Given the description of an element on the screen output the (x, y) to click on. 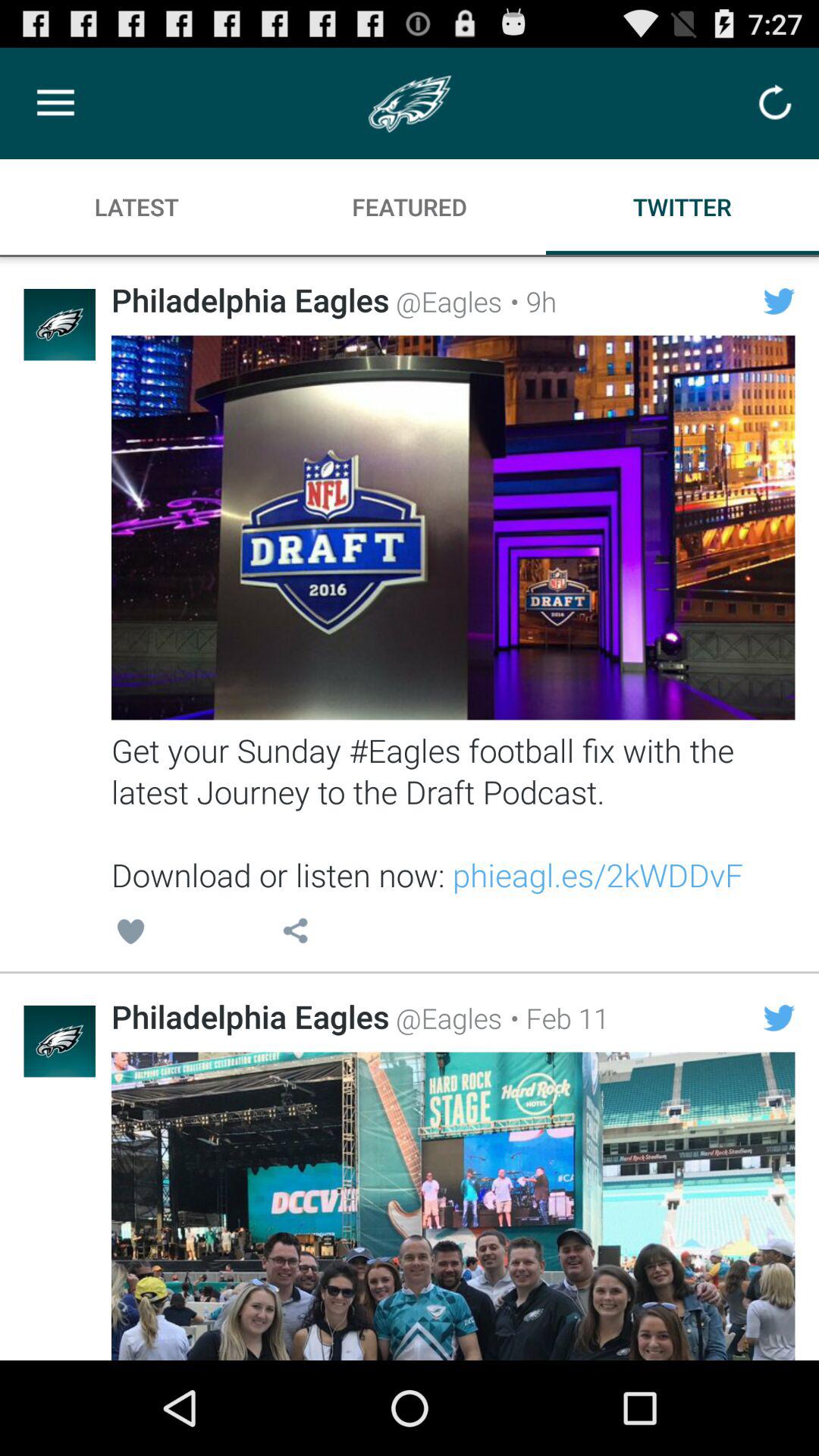
turn on icon on the left (131, 933)
